Given the description of an element on the screen output the (x, y) to click on. 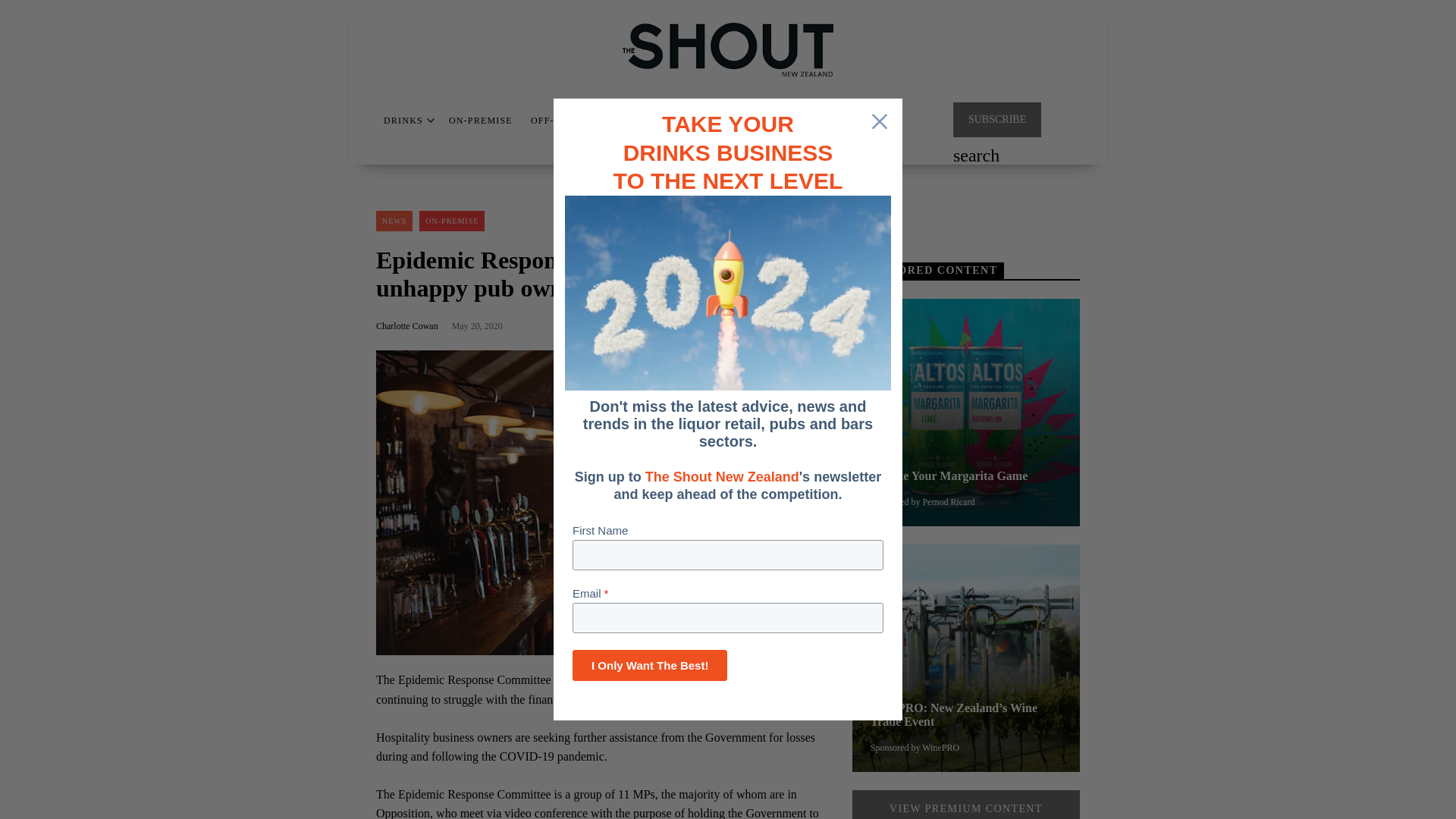
ON-PREMISE (480, 120)
DIRECTORY (736, 120)
OFF-PREMISE (564, 120)
BIG BRANDS (649, 120)
search (975, 156)
FOODSERVICE (820, 120)
DRINKS (403, 120)
SUBSCRIBE (997, 119)
